Given the description of an element on the screen output the (x, y) to click on. 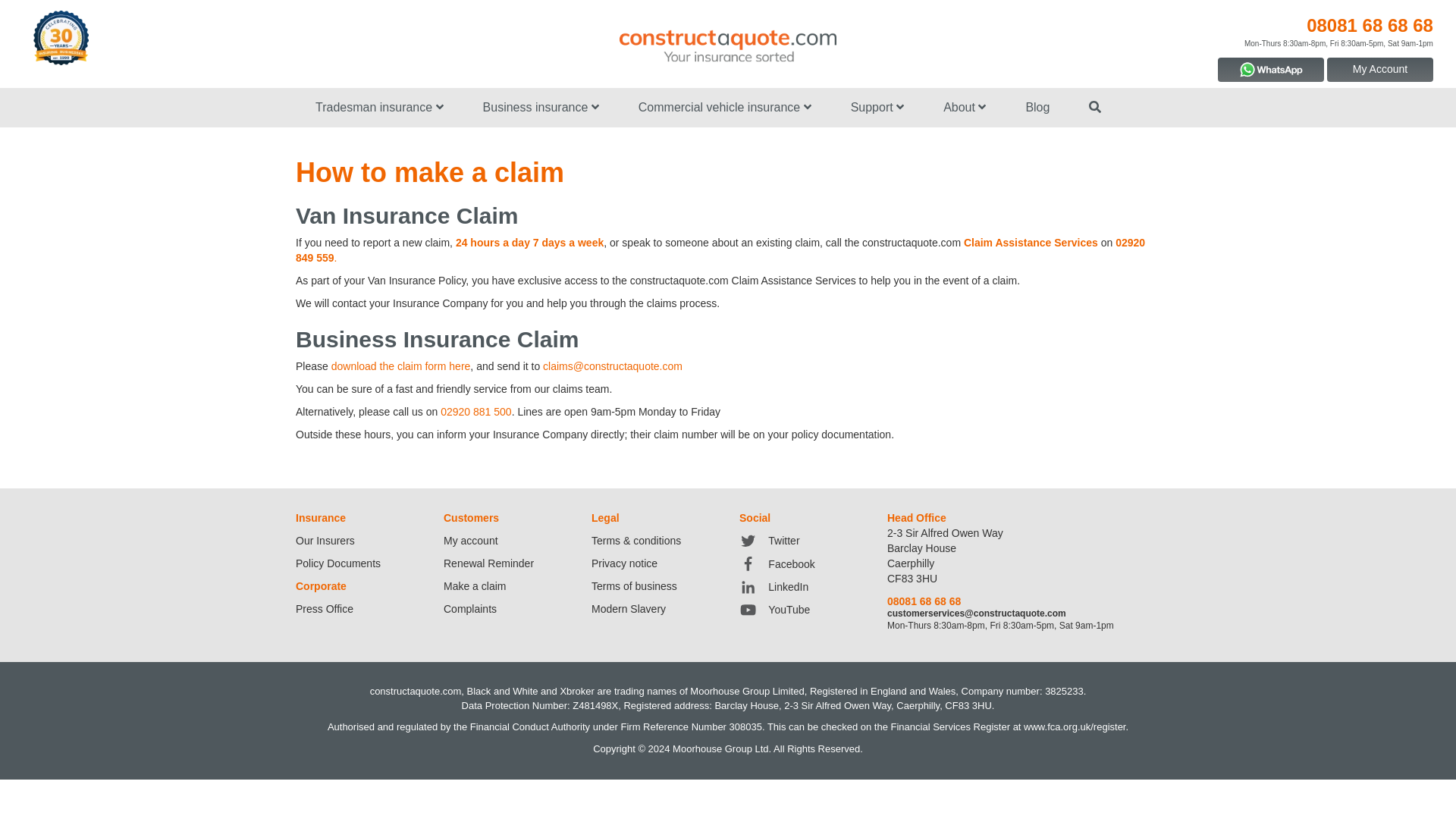
Business insurance (540, 107)
My Account (1379, 69)
LinkedIn (773, 586)
Twitter (769, 540)
Tradesman insurance (379, 107)
Facebook (777, 563)
YouTube (774, 609)
Claim Notification Form.doc (400, 366)
